Given the description of an element on the screen output the (x, y) to click on. 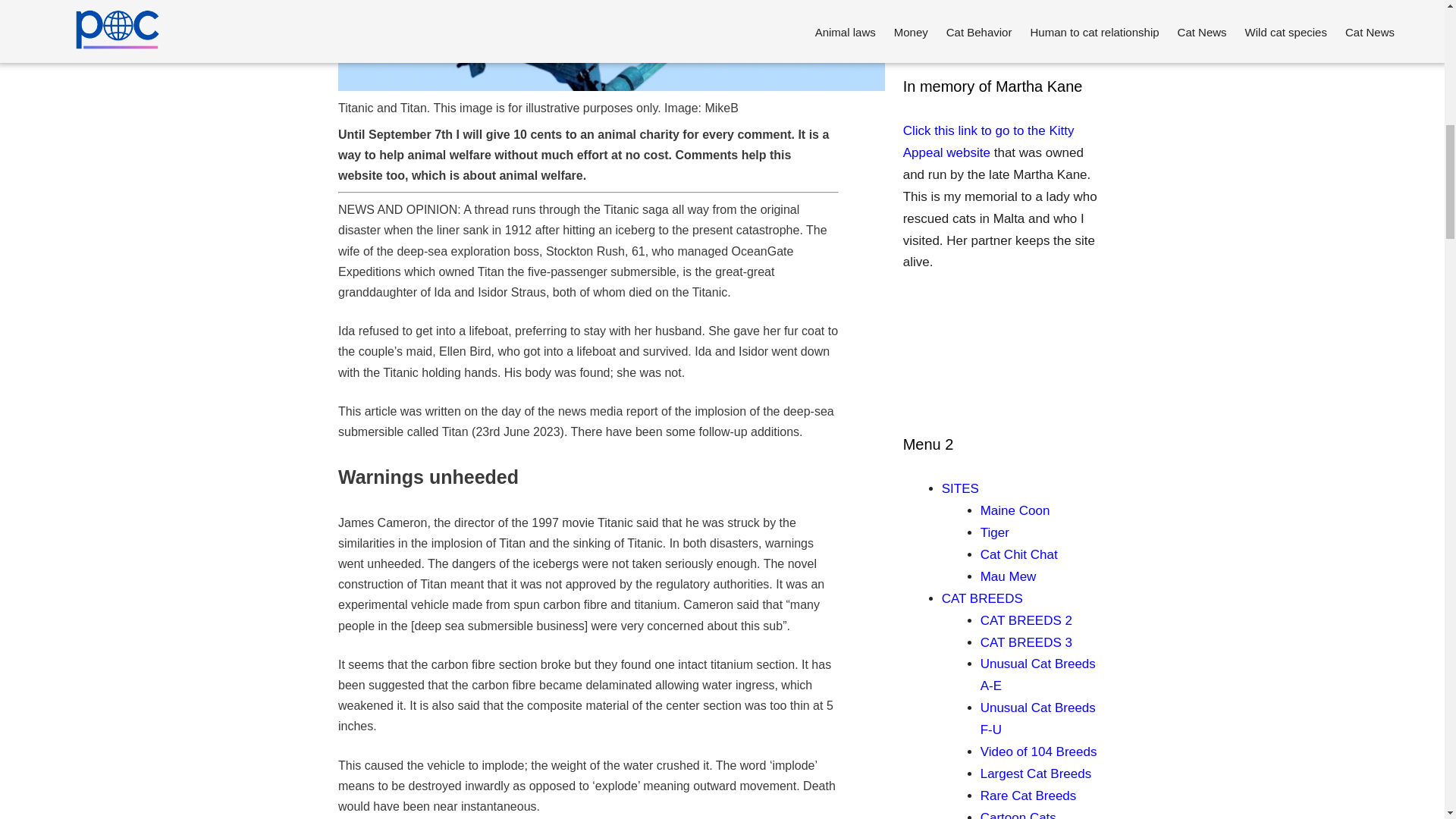
Site dedicated to the Maine Coon. Very extensive. (1014, 510)
Cat breeds in a speedy video (1038, 751)
Full discussion on the rarest cat breeds (1028, 795)
All the cat breeds fully discussed and illustrated (982, 598)
Website about all kinds of cat stories (1018, 554)
Site dedicated to the tiger. Very extensive. (994, 532)
Full discussion on the largest cat breeds (1034, 773)
Cat stuff spillover! (1007, 576)
